Given the description of an element on the screen output the (x, y) to click on. 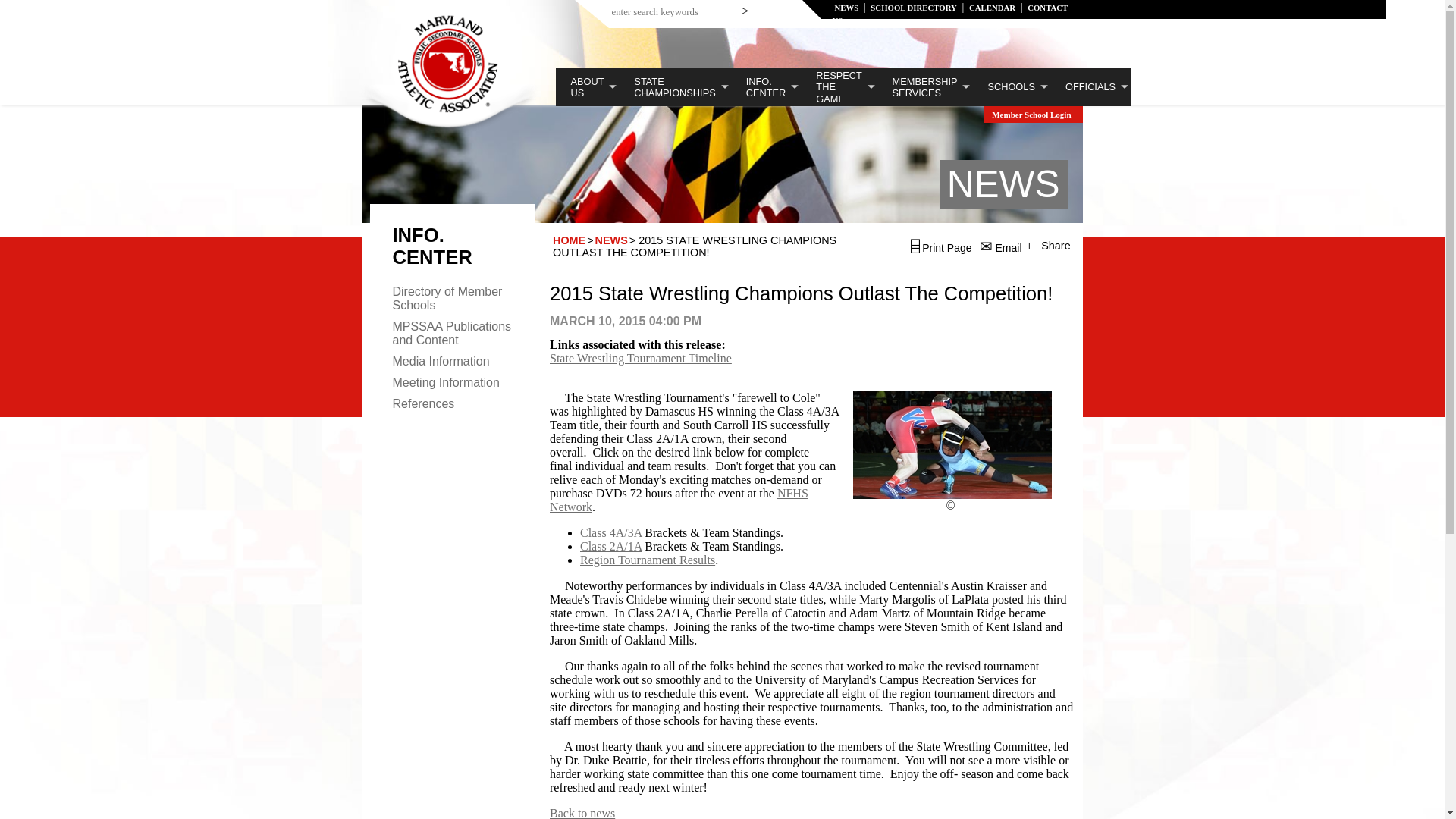
Search (747, 7)
CALENDAR (991, 7)
Search (747, 7)
SCHOOL DIRECTORY (913, 7)
ABOUT US (586, 86)
NEWS (846, 7)
CONTACT US (950, 14)
STATE CHAMPIONSHIPS (674, 86)
Skip to main content (787, 22)
